Given the description of an element on the screen output the (x, y) to click on. 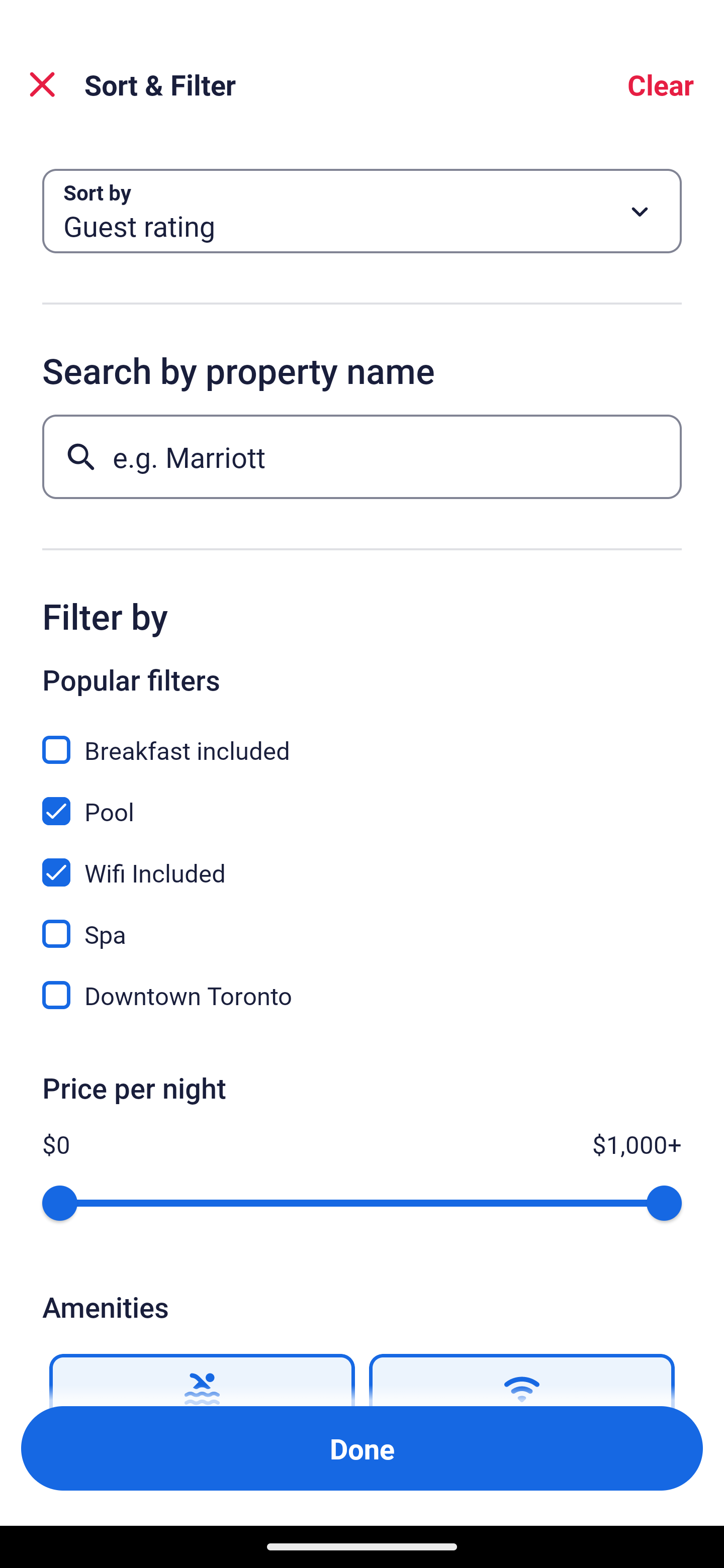
Close Sort and Filter (42, 84)
Clear (660, 84)
Sort by Button Guest rating (361, 211)
e.g. Marriott Button (361, 455)
Breakfast included, Breakfast included (361, 738)
Pool, Pool (361, 800)
Wifi Included, Wifi Included (361, 861)
Spa, Spa (361, 922)
Downtown Toronto, Downtown Toronto (361, 995)
Apply and close Sort and Filter Done (361, 1448)
